Given the description of an element on the screen output the (x, y) to click on. 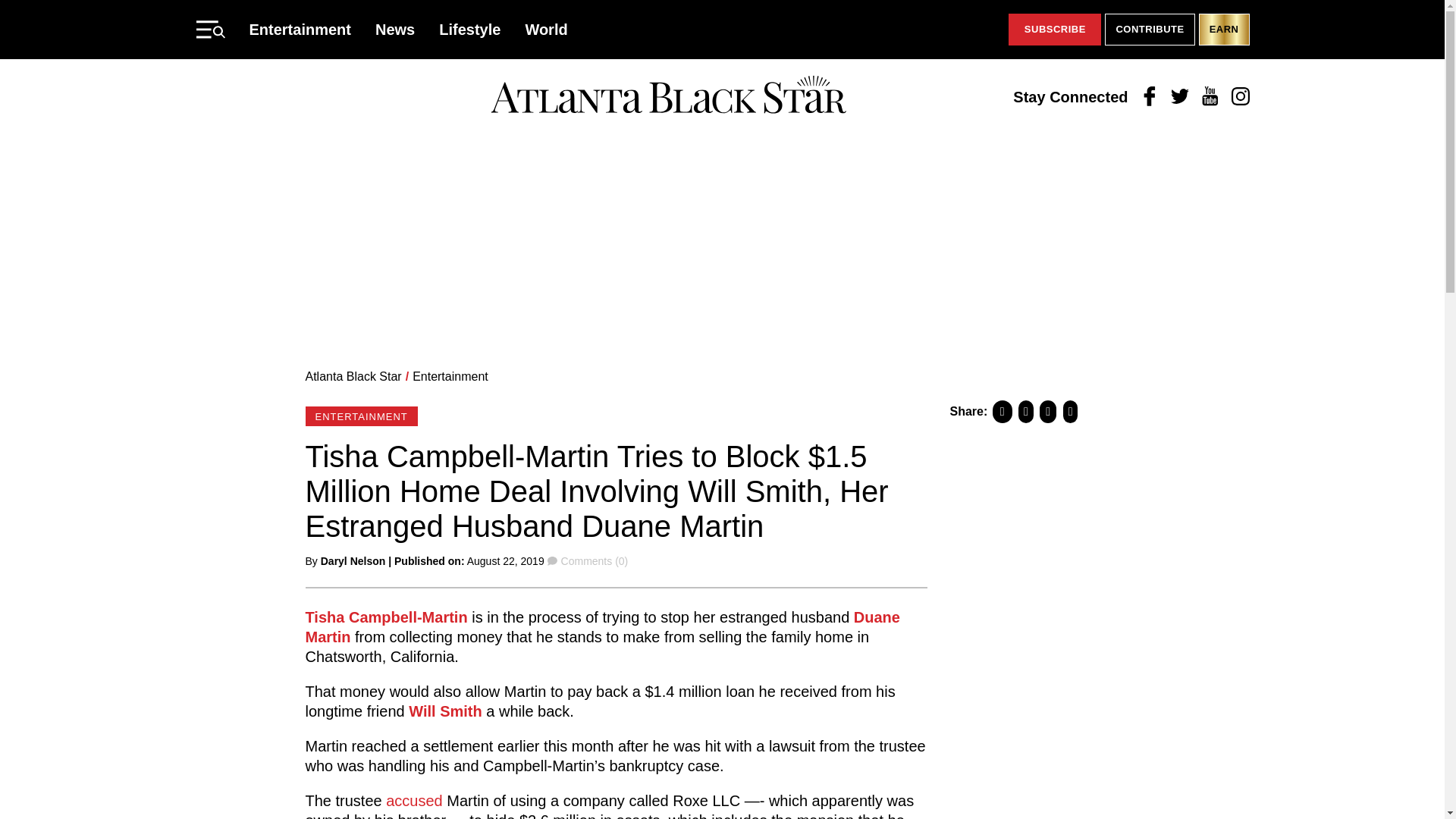
Lifestyle (469, 29)
Go to the Entertainment Category archives. (449, 376)
Atlanta Black Star (667, 96)
Atlanta Black Star (352, 376)
Entertainment (299, 29)
News (394, 29)
Go to Atlanta Black Star. (352, 376)
World (545, 29)
SUBSCRIBE (1054, 29)
Entertainment (449, 376)
CONTRIBUTE (1149, 29)
EARN (1223, 29)
